Given the description of an element on the screen output the (x, y) to click on. 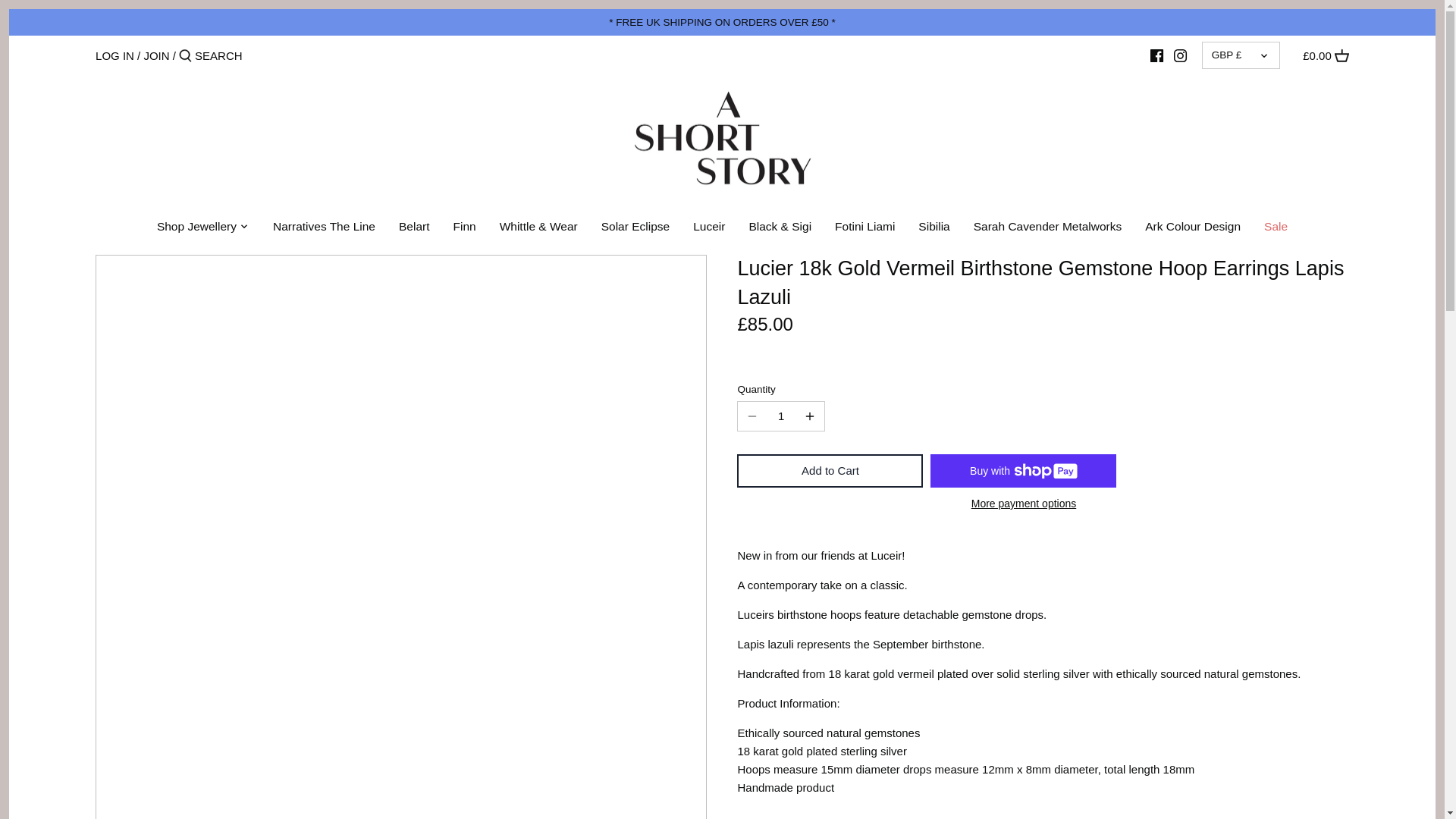
JOIN (155, 55)
1 (780, 416)
FACEBOOK (1156, 55)
LOG IN (114, 55)
INSTAGRAM (1179, 55)
